Given the description of an element on the screen output the (x, y) to click on. 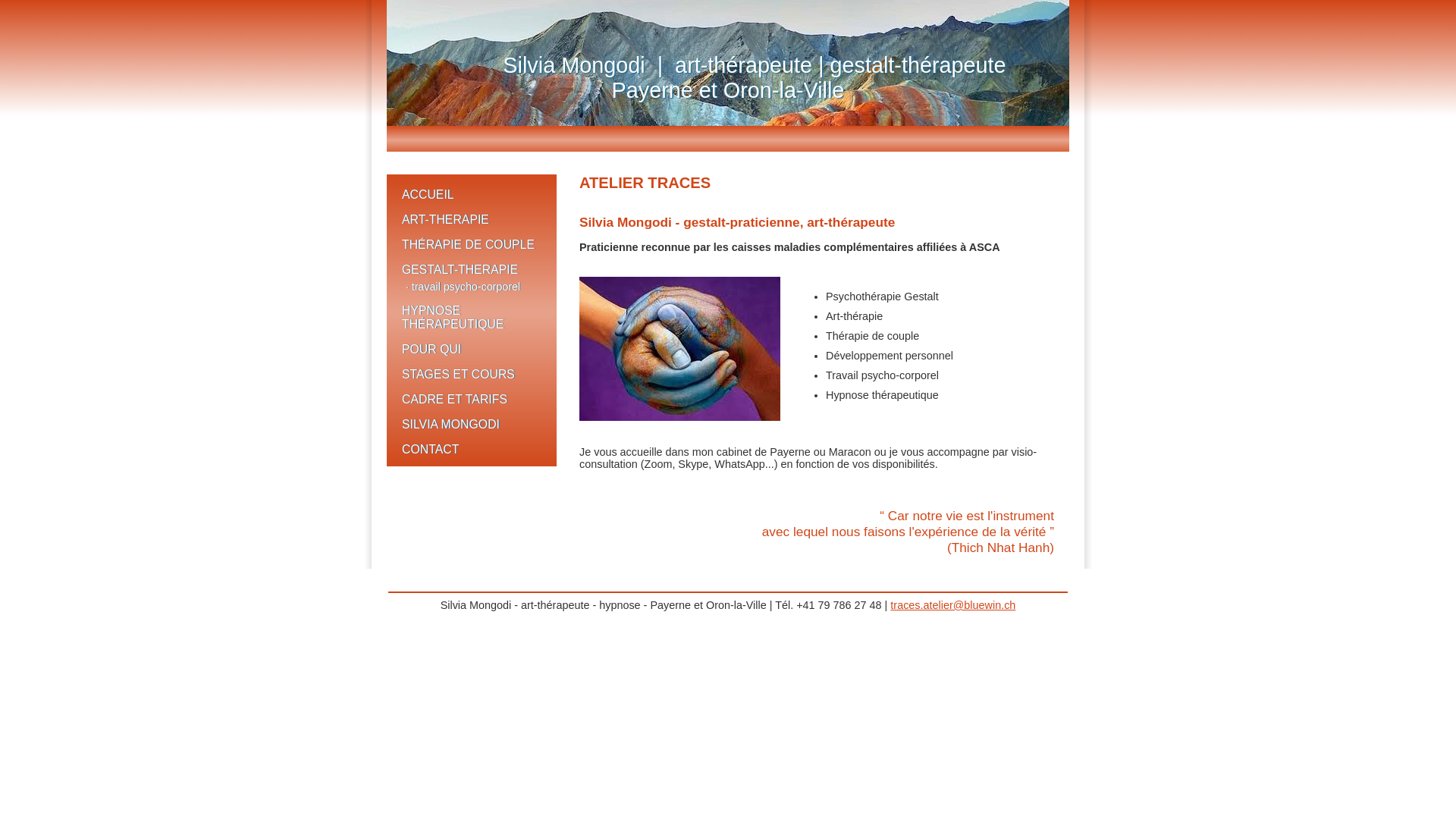
CADRE ET TARIFS Element type: text (471, 397)
GESTALT-THERAPIE Element type: text (471, 267)
SILVIA MONGODI Element type: text (471, 422)
ART-THERAPIE Element type: text (471, 217)
traces.atelier@bluewin.ch Element type: text (952, 605)
ACCUEIL Element type: text (471, 192)
CONTACT Element type: text (471, 447)
STAGES ET COURS Element type: text (471, 372)
POUR QUI Element type: text (471, 347)
